Given the description of an element on the screen output the (x, y) to click on. 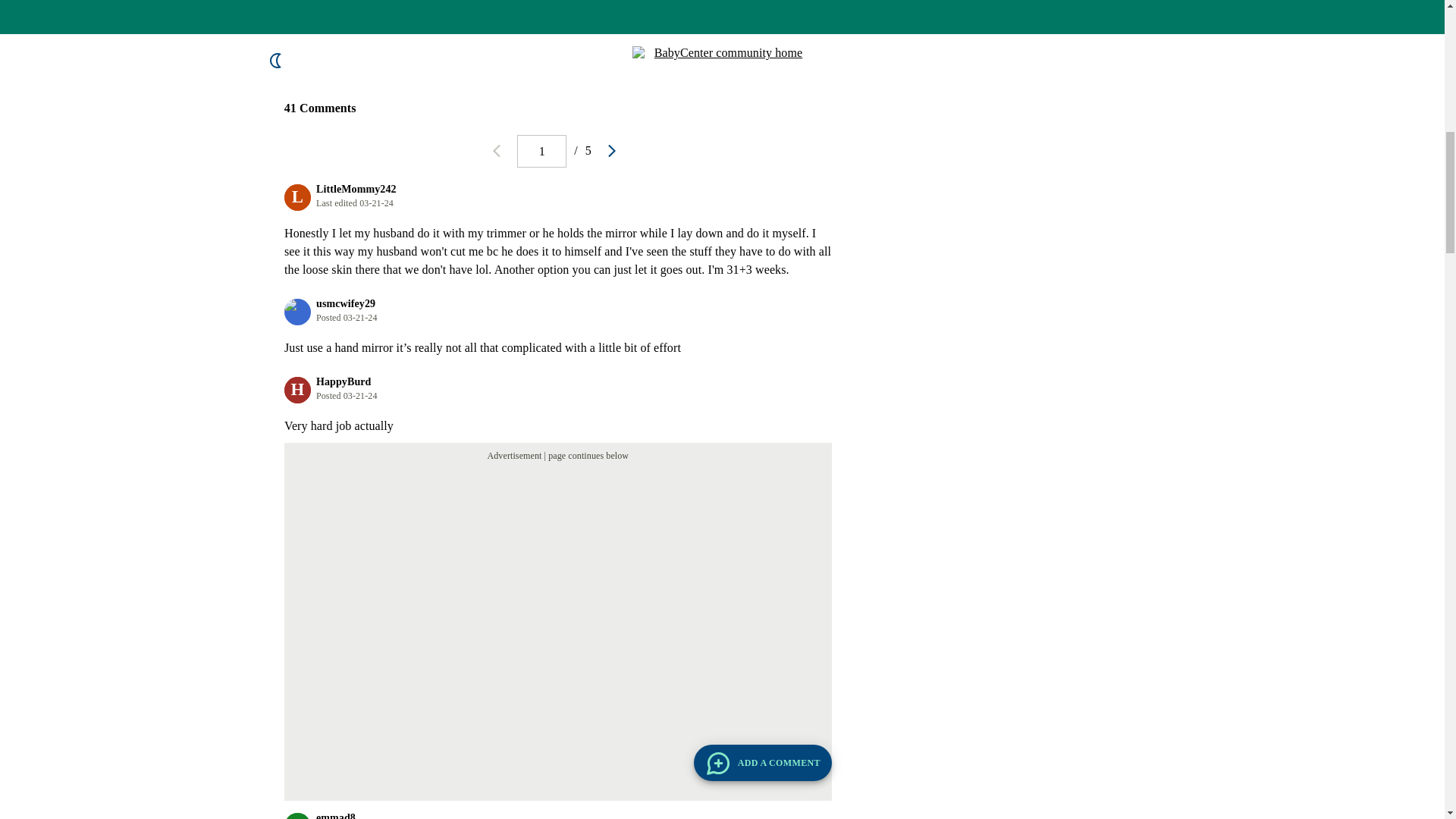
Go to page number (541, 151)
1 (541, 151)
